Given the description of an element on the screen output the (x, y) to click on. 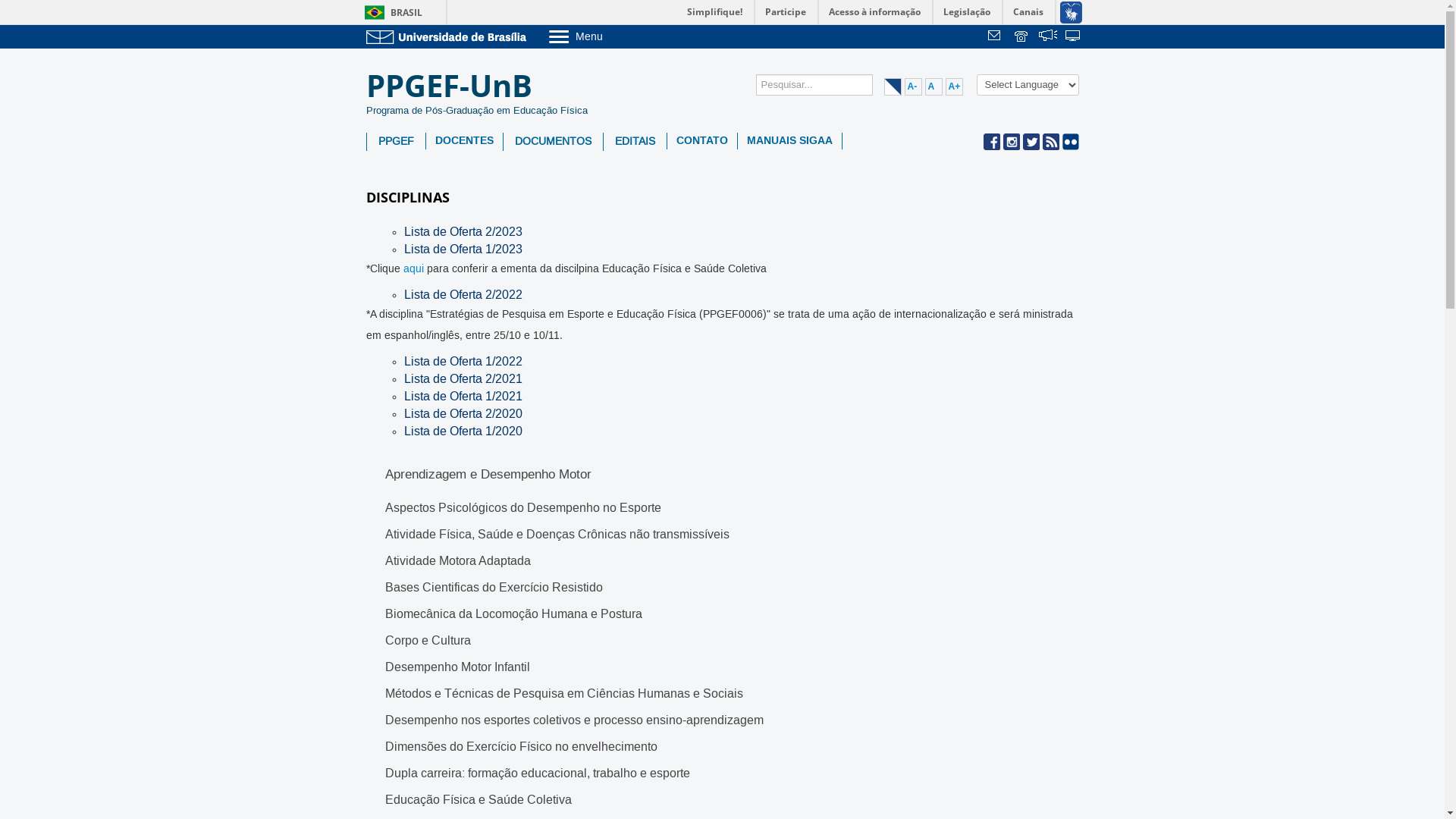
Lista de Oferta 2/2021 Element type: text (462, 378)
Fala.BR Element type: hover (1047, 37)
Webmail Element type: hover (996, 37)
A Element type: text (933, 86)
  Element type: text (1022, 37)
Menu Element type: text (613, 35)
Lista de Oferta 1/2020 Element type: text (462, 431)
Atividade Motora Adaptada Element type: text (457, 561)
Lista de Oferta 2/2022 Element type: text (462, 294)
  Element type: text (1047, 37)
BRASIL Element type: text (389, 12)
DOCENTES Element type: text (464, 140)
MANUAIS SIGAA Element type: text (788, 140)
aqui Element type: text (413, 269)
Lista de Oferta 2/2023 Element type: text (462, 231)
Ir para o Portal da UnB Element type: hover (448, 36)
  Element type: text (1073, 37)
Lista de Oferta 1/2022 Element type: text (462, 361)
Corpo e Cultura Element type: text (427, 641)
Lista de Oferta 1/2023 Element type: text (462, 249)
Lista de Oferta 1/2021 Element type: text (462, 397)
CONTATO Element type: text (702, 140)
  Element type: text (996, 37)
A- Element type: text (912, 86)
Lista de Oferta 2/2020 Element type: text (462, 414)
Sistemas Element type: hover (1073, 37)
A+ Element type: text (953, 86)
Telefones da UnB Element type: hover (1022, 37)
